Given the description of an element on the screen output the (x, y) to click on. 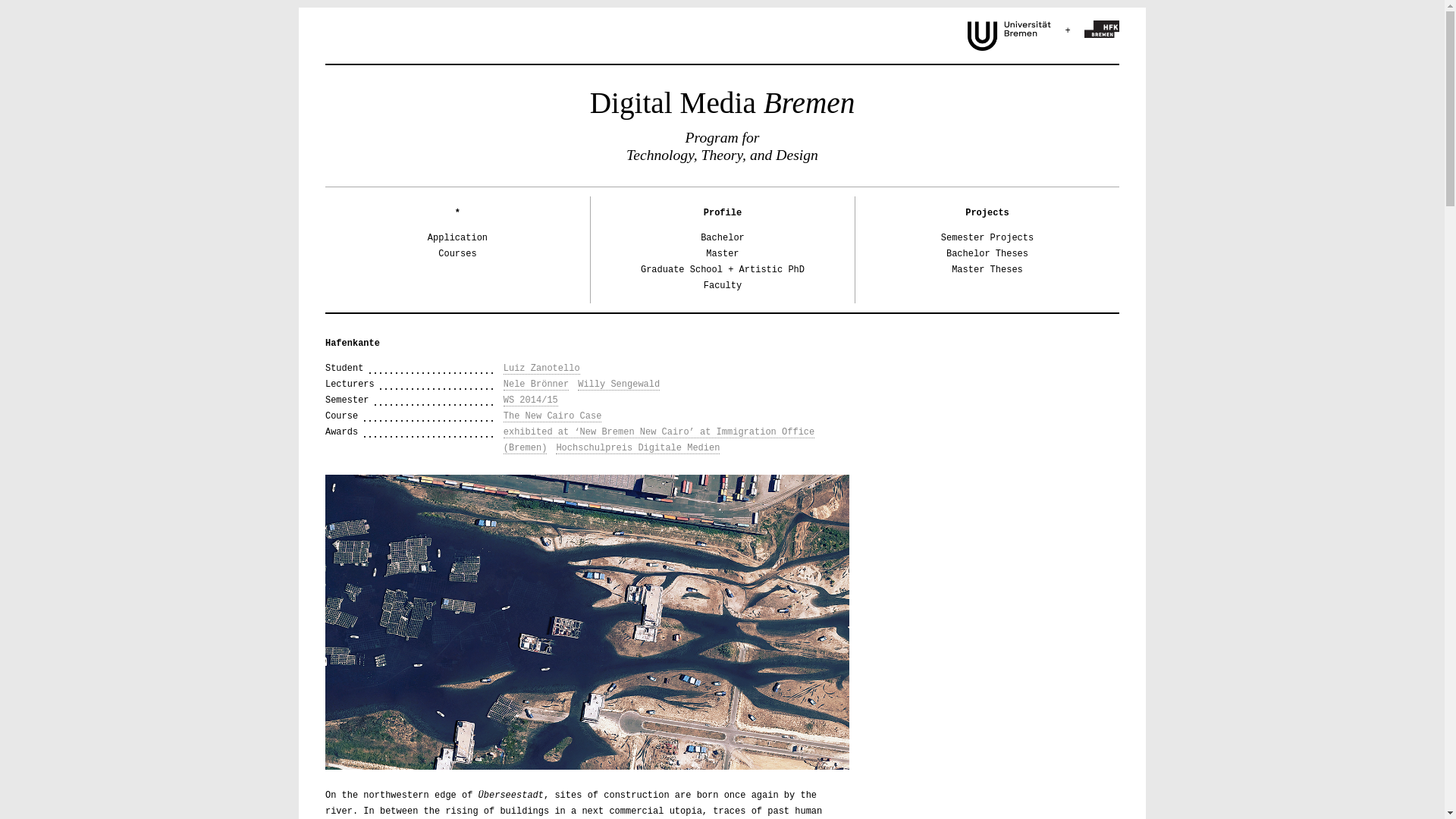
Digital Media Bremen (722, 102)
Application (457, 237)
Master Theses (987, 269)
Bachelor Theses (986, 253)
The New Cairo Case (552, 416)
Projects (987, 213)
Willy Sengewald (618, 384)
Luiz Zanotello (541, 368)
Bachelor (722, 237)
Semester Projects (986, 237)
Hochschulpreis Digitale Medien (637, 448)
Faculty (722, 285)
Master (722, 253)
Profile (722, 213)
Courses (457, 253)
